Given the description of an element on the screen output the (x, y) to click on. 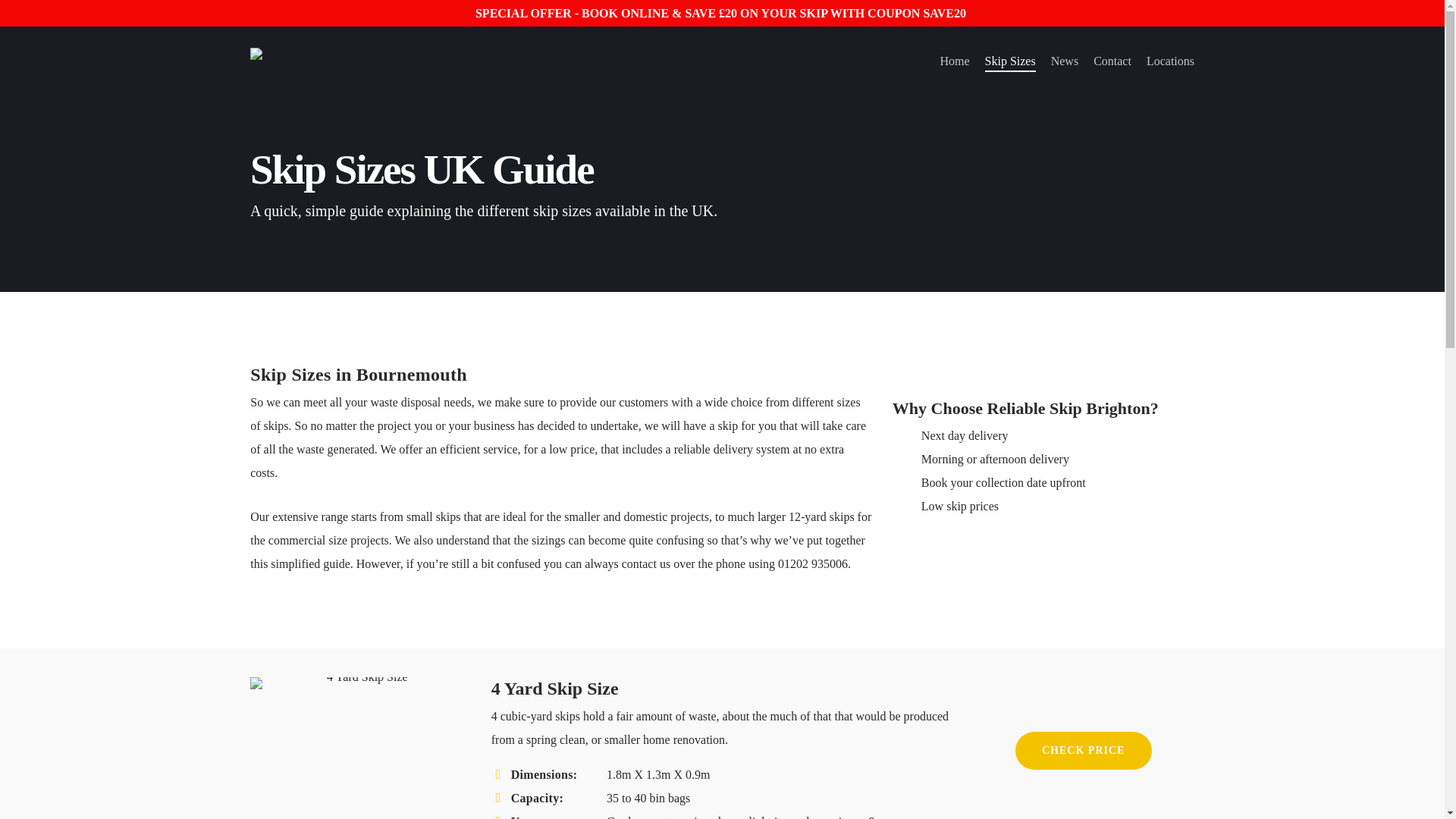
Skip Sizes (1010, 61)
CHECK PRICE (1082, 750)
Home (954, 61)
Locations (1170, 61)
News (1064, 61)
Contact (1112, 61)
